Given the description of an element on the screen output the (x, y) to click on. 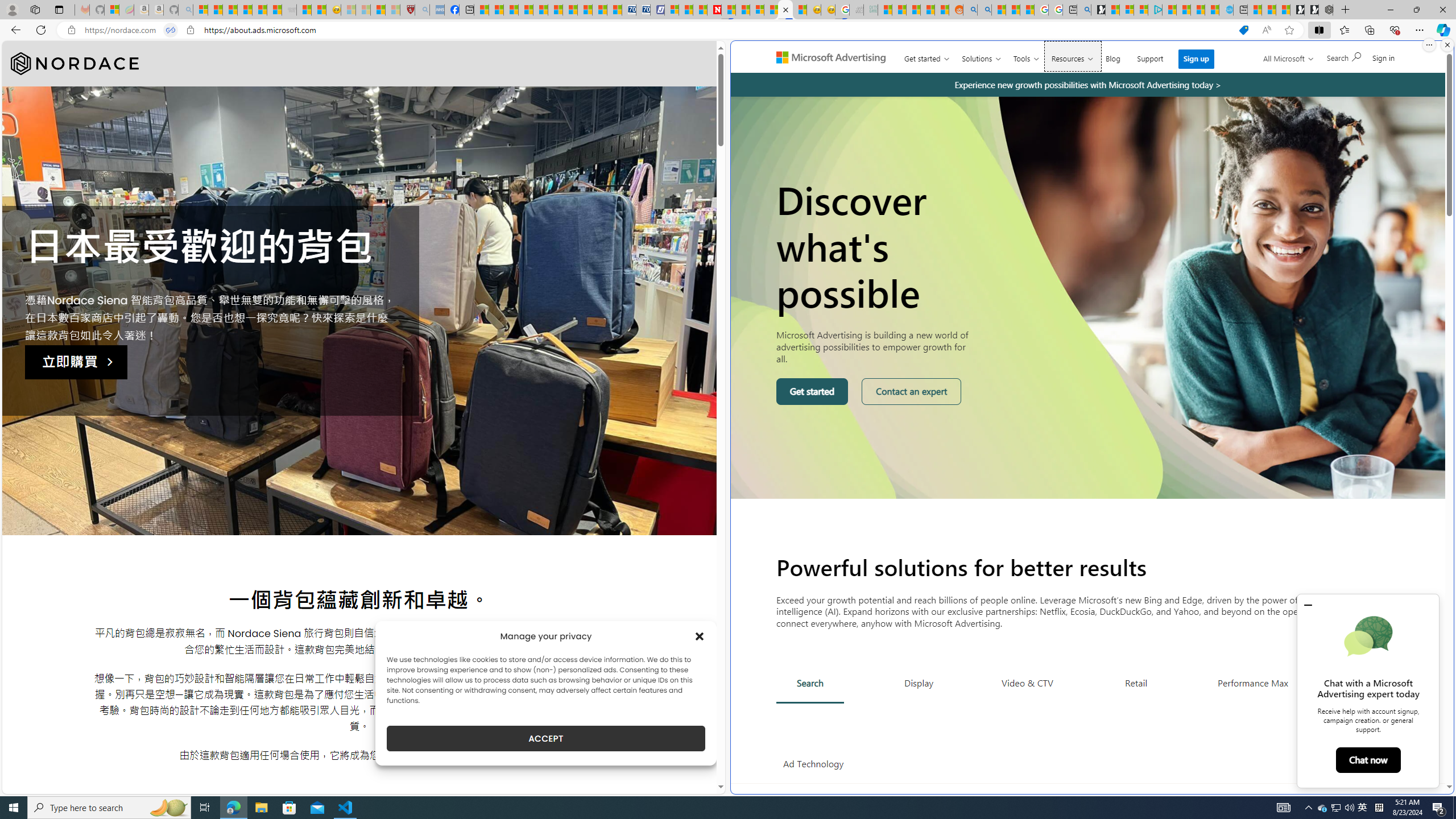
Class: cmplz-close (699, 636)
Ad Technology (813, 763)
